Given the description of an element on the screen output the (x, y) to click on. 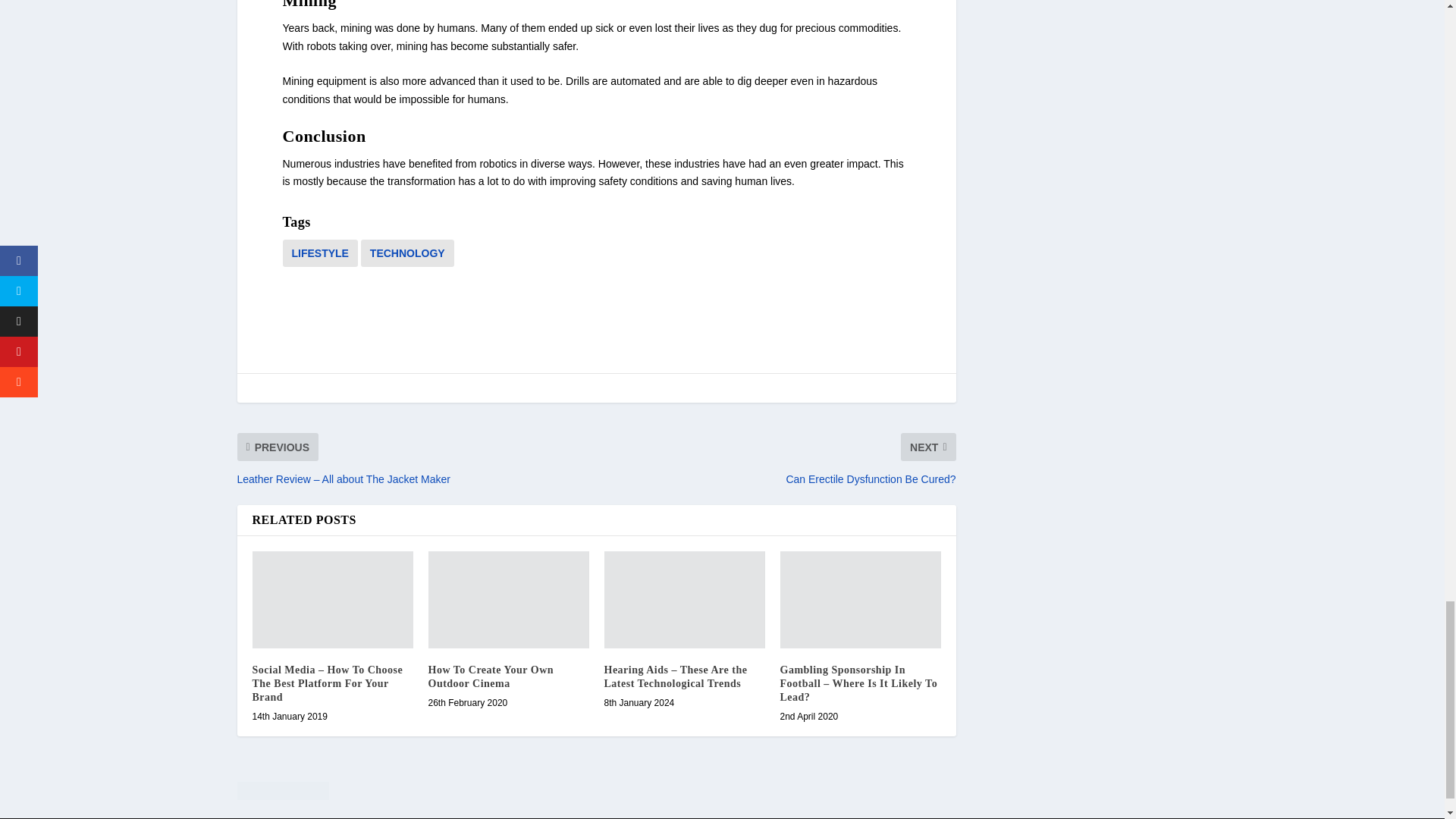
DMCA.com Protection Status (595, 793)
lifestyle (319, 252)
How To Create Your Own Outdoor Cinema (508, 599)
Technology (407, 252)
